Given the description of an element on the screen output the (x, y) to click on. 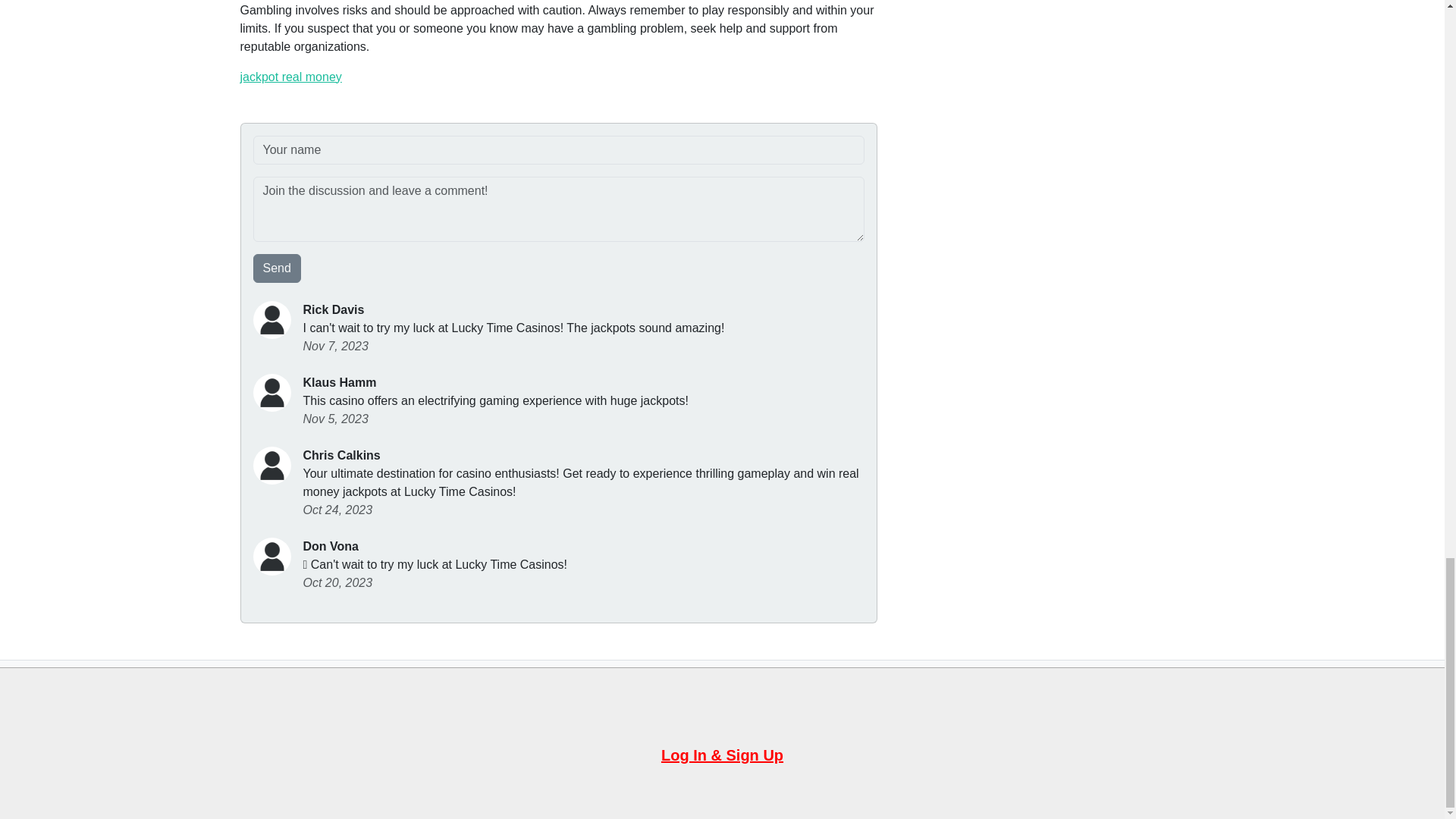
Send (277, 267)
Terms of service (764, 711)
jackpot real money (290, 76)
Send (277, 267)
Privacy policy (671, 711)
